Given the description of an element on the screen output the (x, y) to click on. 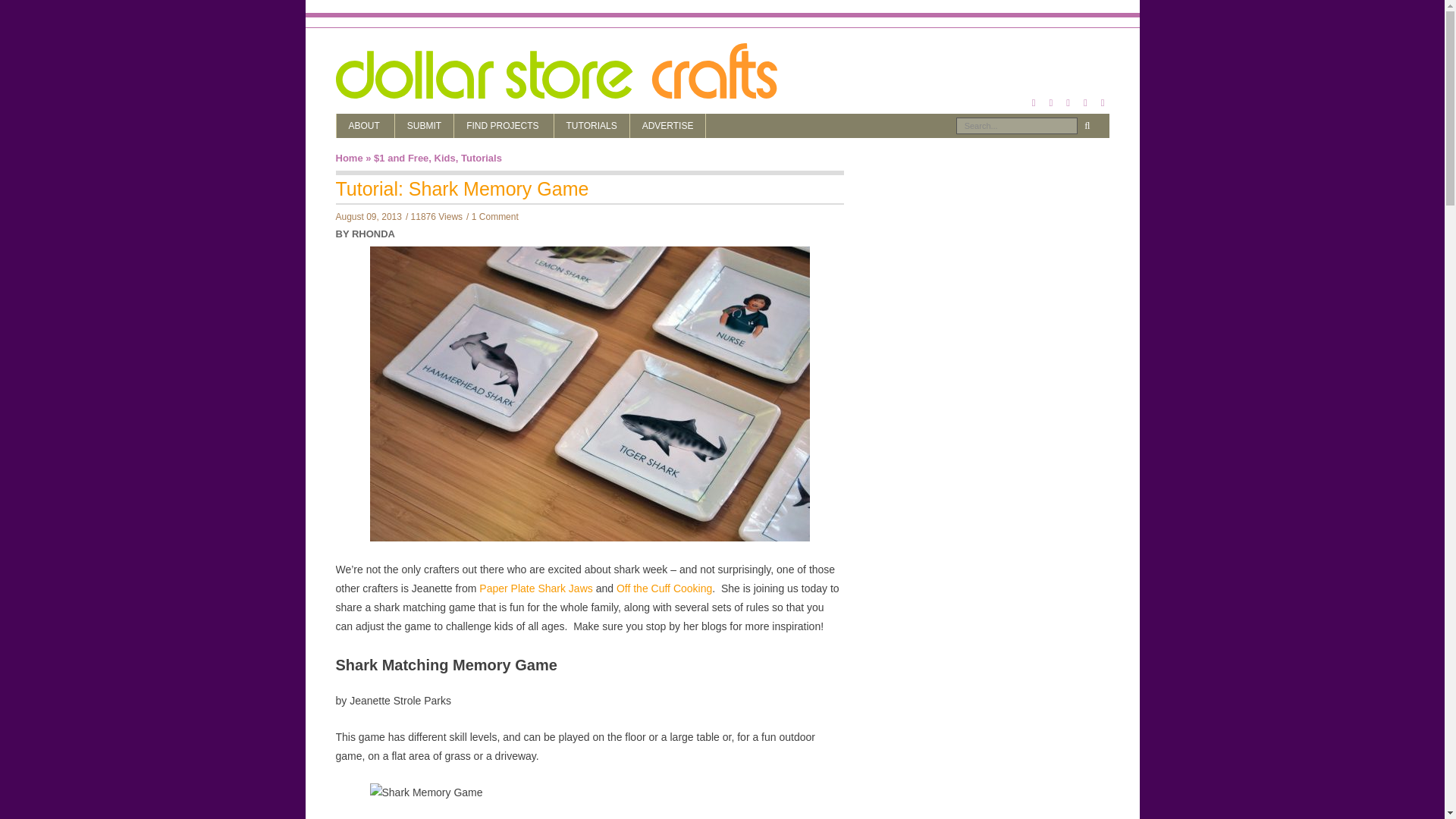
SUBMIT (423, 125)
ABOUT (365, 125)
FIND PROJECTS (503, 125)
TUTORIALS (591, 125)
Home (348, 157)
ADVERTISE (668, 125)
